Given the description of an element on the screen output the (x, y) to click on. 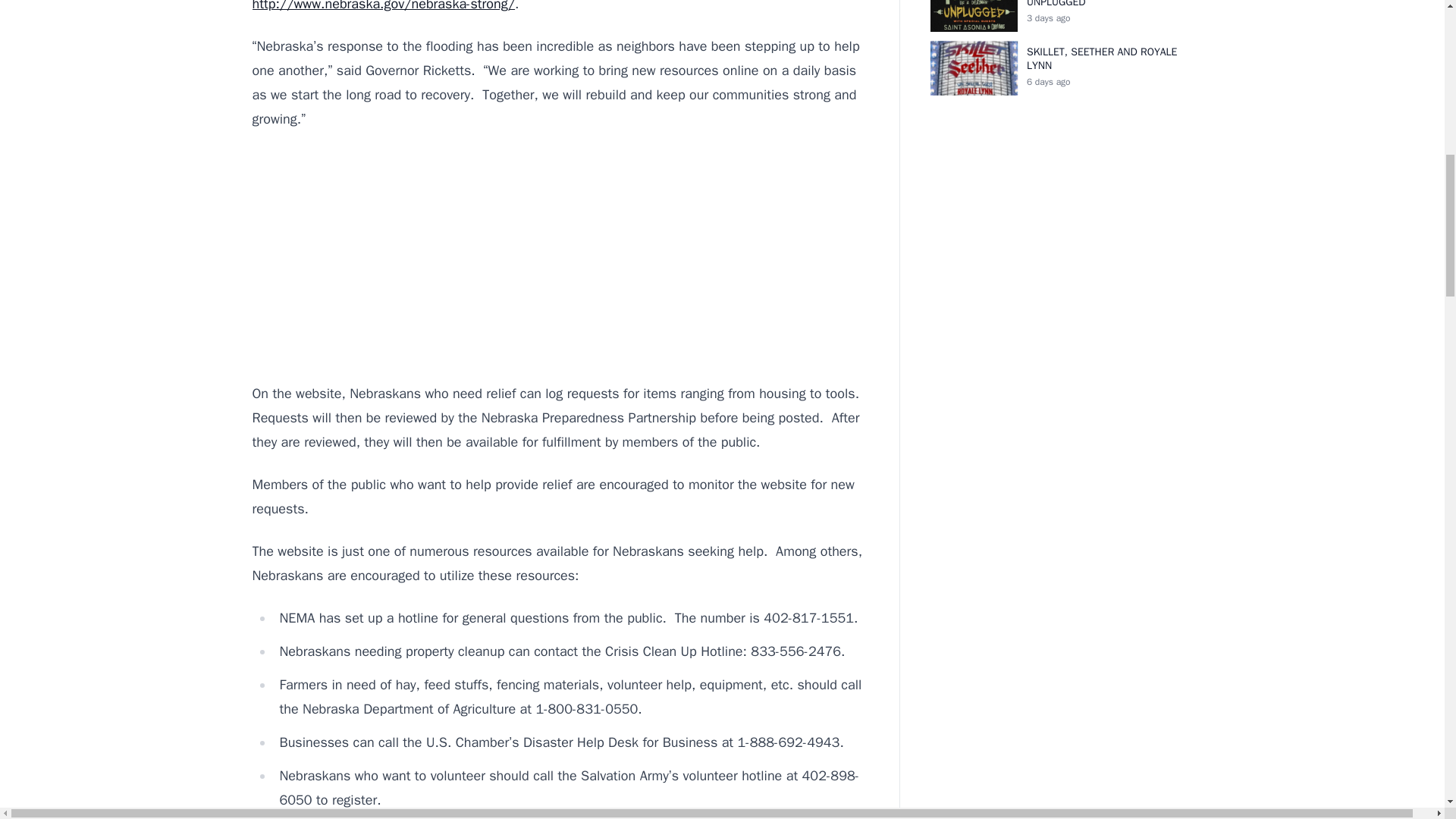
3rd party ad content (560, 256)
